Given the description of an element on the screen output the (x, y) to click on. 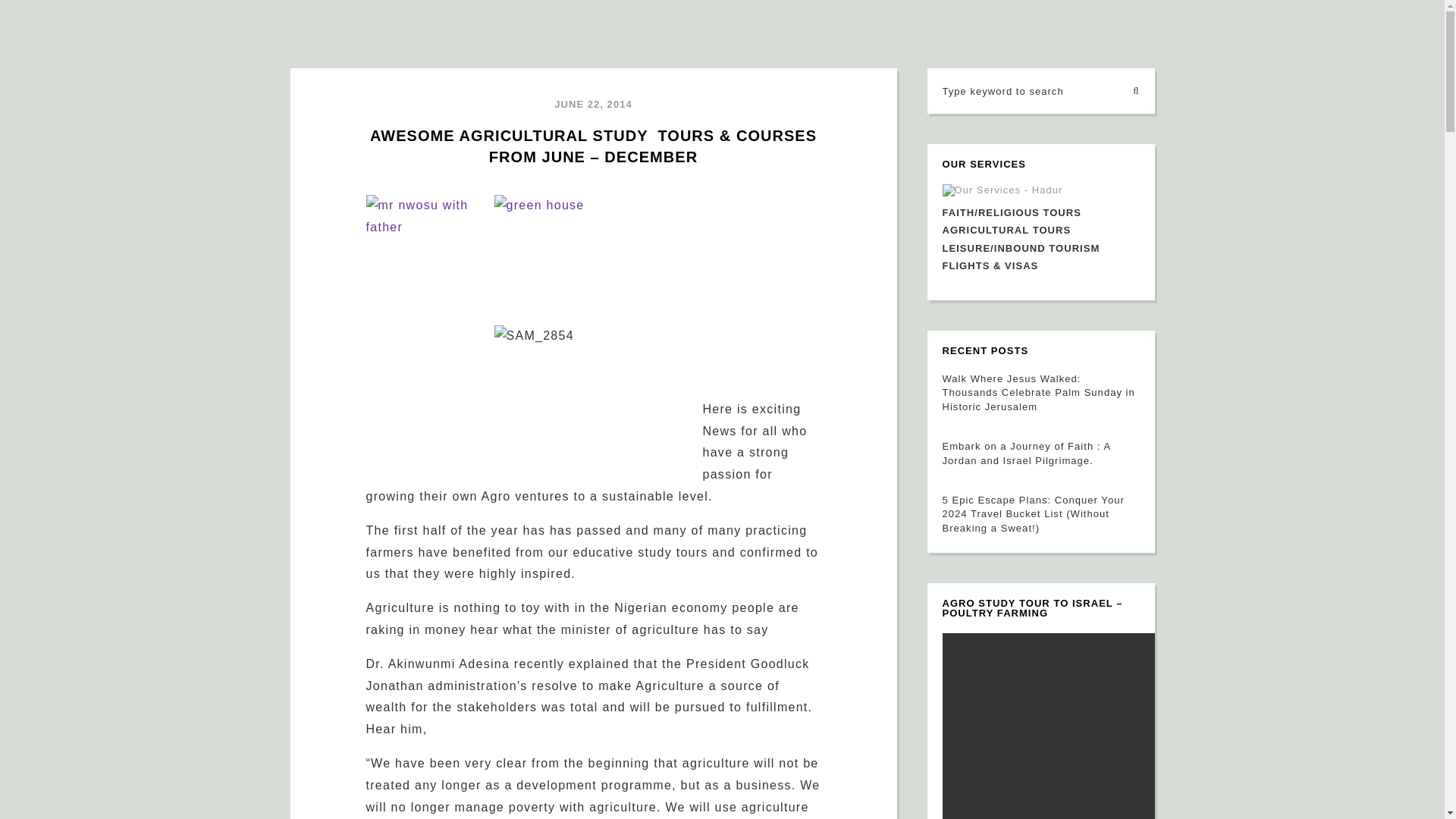
Type keyword to search (1024, 90)
Type keyword to search (1024, 90)
